Given the description of an element on the screen output the (x, y) to click on. 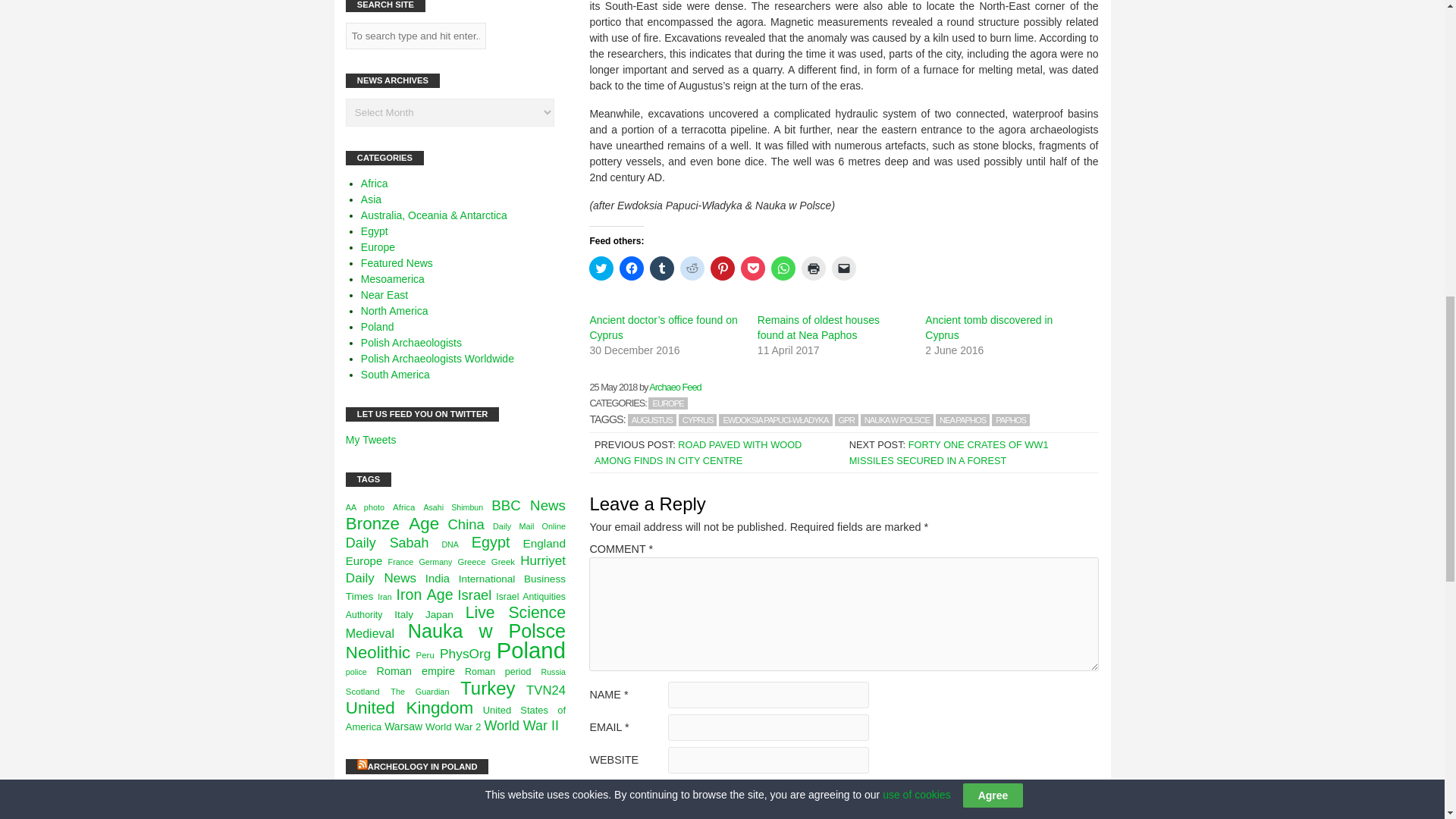
NEA PAPHOS (963, 419)
Click to share on Pocket (753, 268)
AUGUSTUS (652, 419)
Click to share on Tumblr (661, 268)
Click to share on Twitter (600, 268)
Remains of oldest houses found at Nea Paphos (818, 327)
Remains of oldest houses found at Nea Paphos (818, 327)
Click to print (813, 268)
subscribe (597, 786)
Click to share on Pinterest (722, 268)
